Given the description of an element on the screen output the (x, y) to click on. 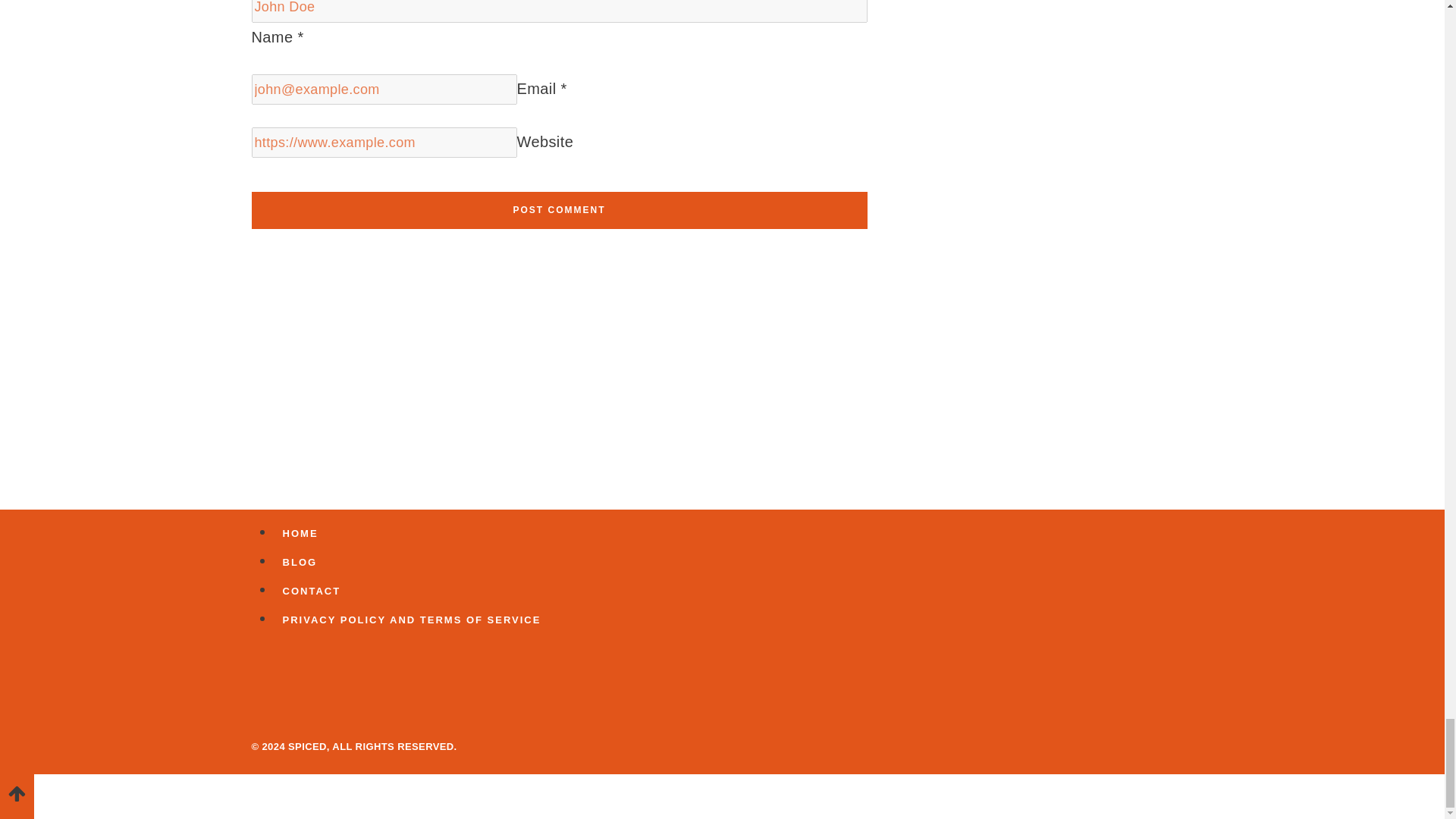
Post Comment (559, 210)
